Given the description of an element on the screen output the (x, y) to click on. 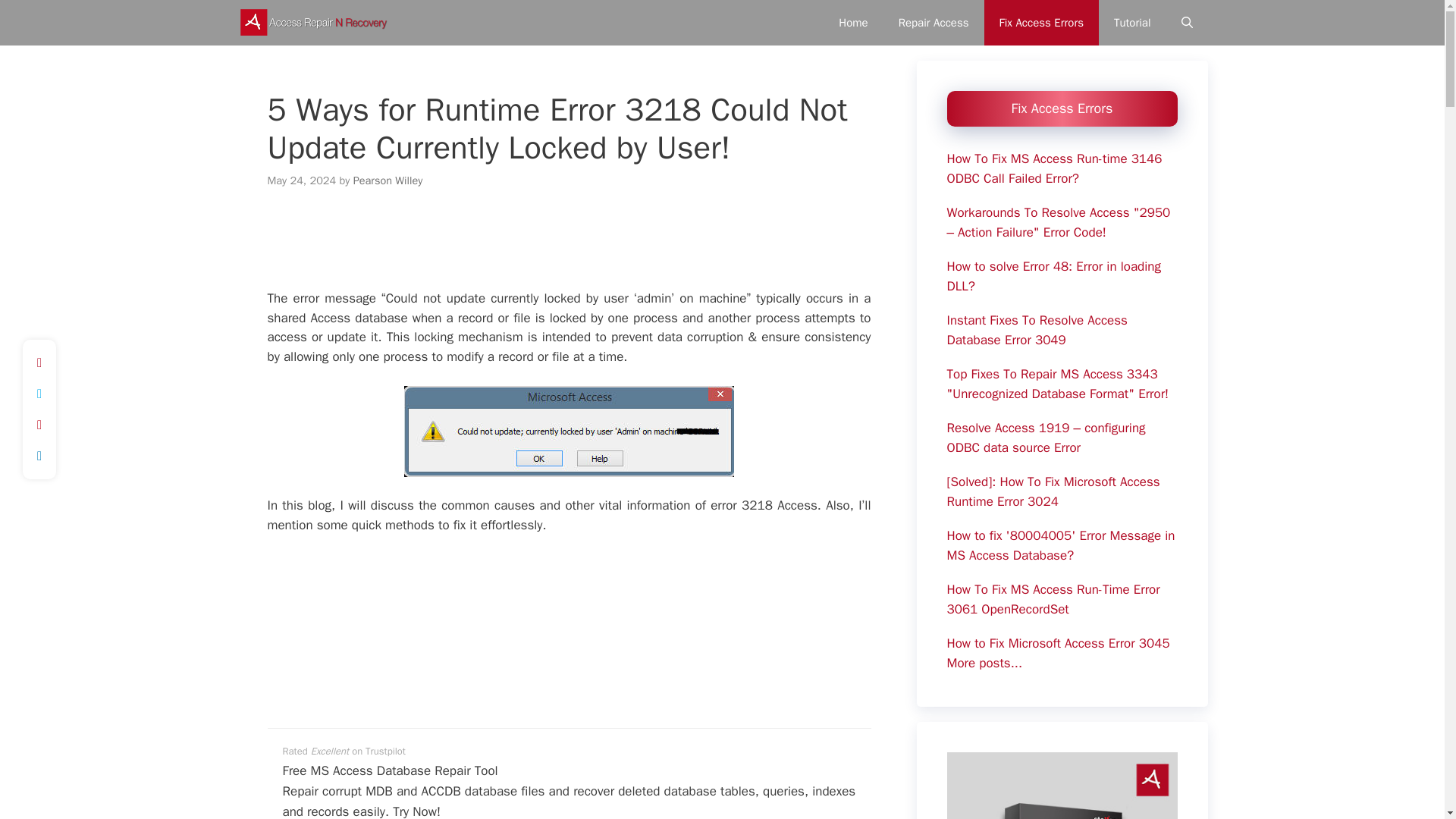
Advertisement (568, 629)
Pearson Willey (388, 180)
Trustpilot (385, 750)
Fix Access Errors (1041, 22)
Advertisement (568, 249)
Tutorial (1132, 22)
MS Access Repair And Recovery Blog (315, 22)
Repair Access (933, 22)
MS Access Repair And Recovery Blog (311, 22)
Home (853, 22)
